Given the description of an element on the screen output the (x, y) to click on. 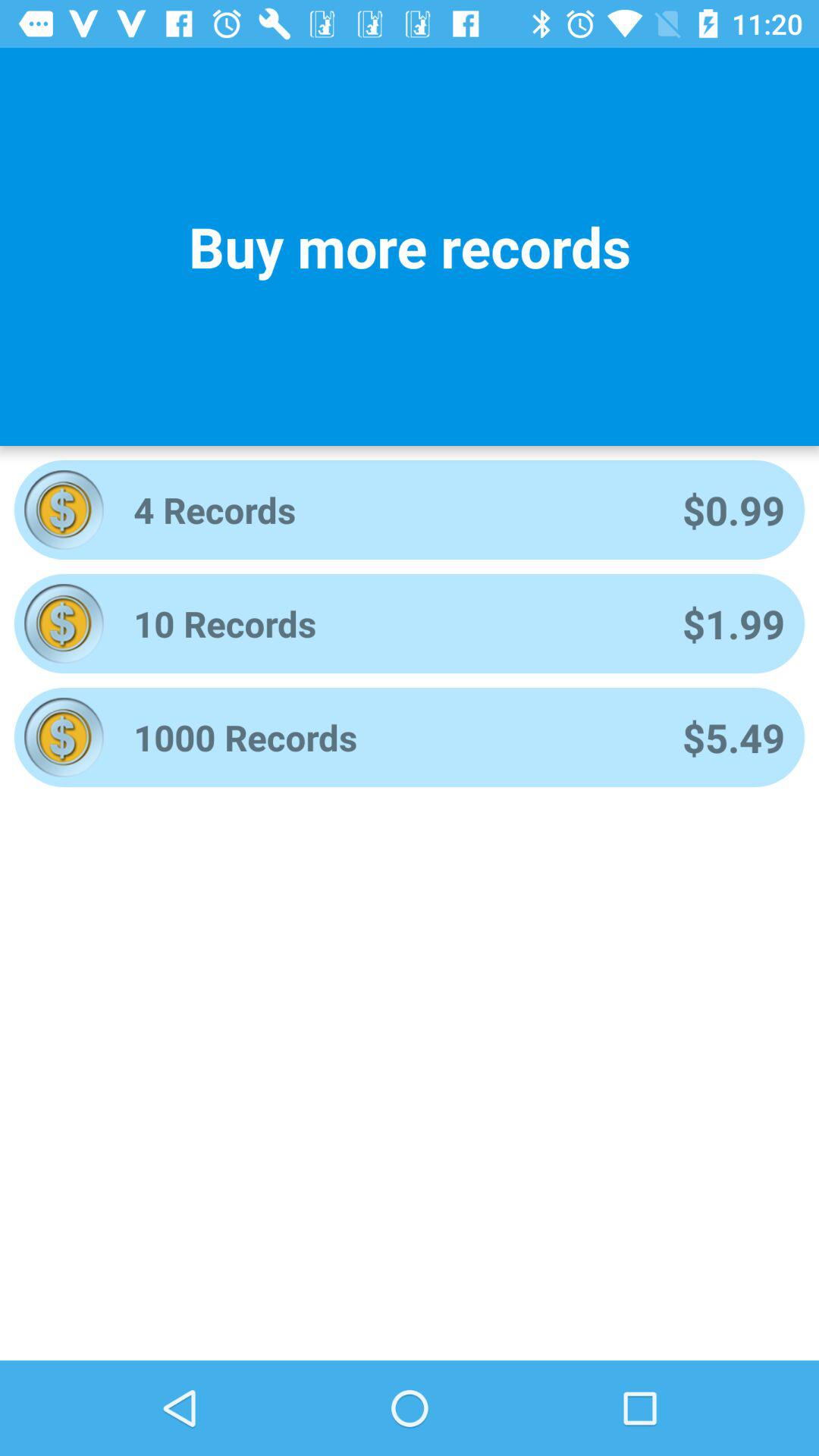
select the icon below $1.99 item (733, 737)
